Given the description of an element on the screen output the (x, y) to click on. 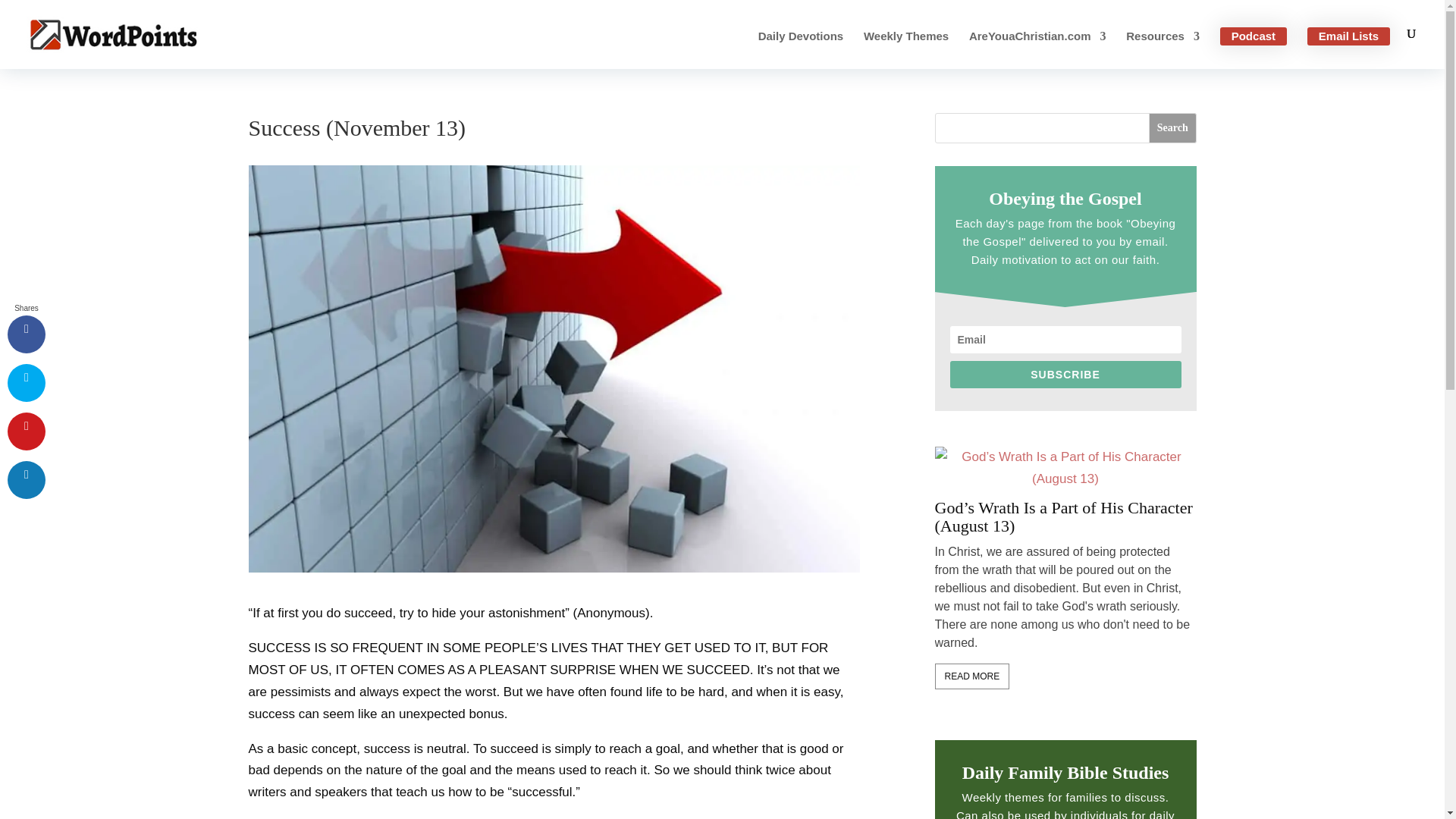
AreYouaChristian.com (1037, 49)
Daily Devotions (801, 49)
Weekly Themes (906, 49)
Podcast (1253, 36)
Email Lists (1348, 36)
Resources (1162, 49)
Search (1172, 128)
